Given the description of an element on the screen output the (x, y) to click on. 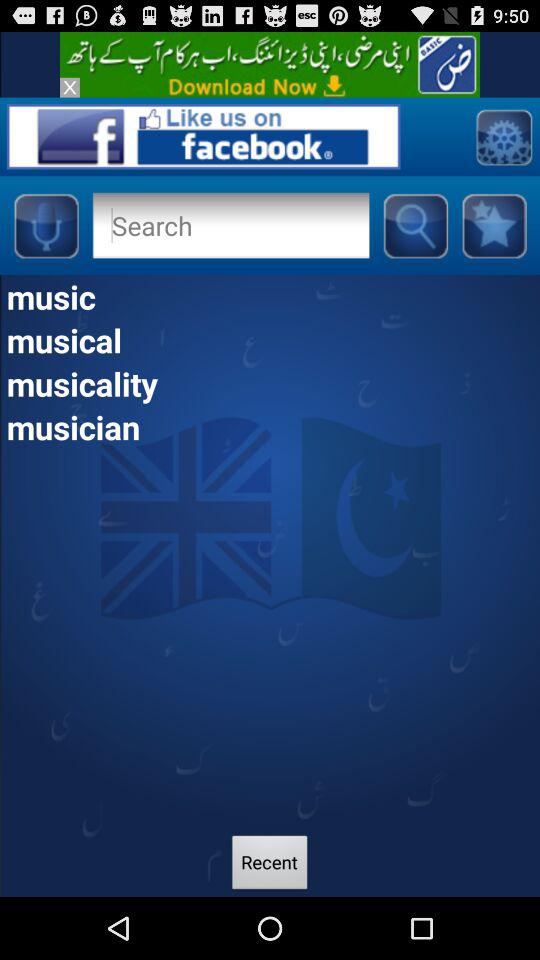
like us on facebook (203, 136)
